Given the description of an element on the screen output the (x, y) to click on. 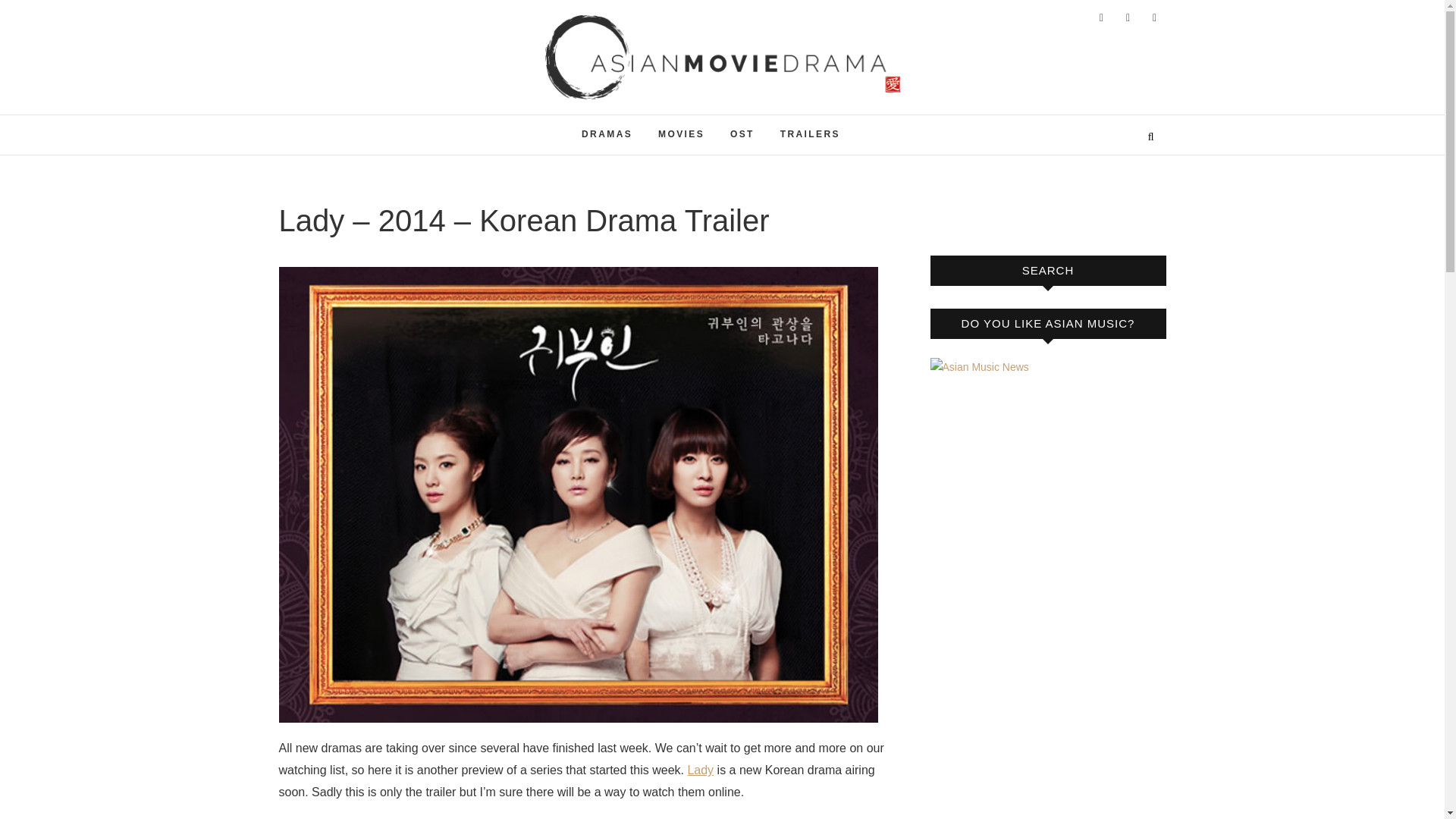
Lady (700, 769)
OST (742, 134)
Dramas (606, 134)
TRAILERS (809, 134)
Lady (700, 769)
DRAMAS (606, 134)
OST (742, 134)
MOVIES (681, 134)
Movies (681, 134)
Trailers (809, 134)
